Given the description of an element on the screen output the (x, y) to click on. 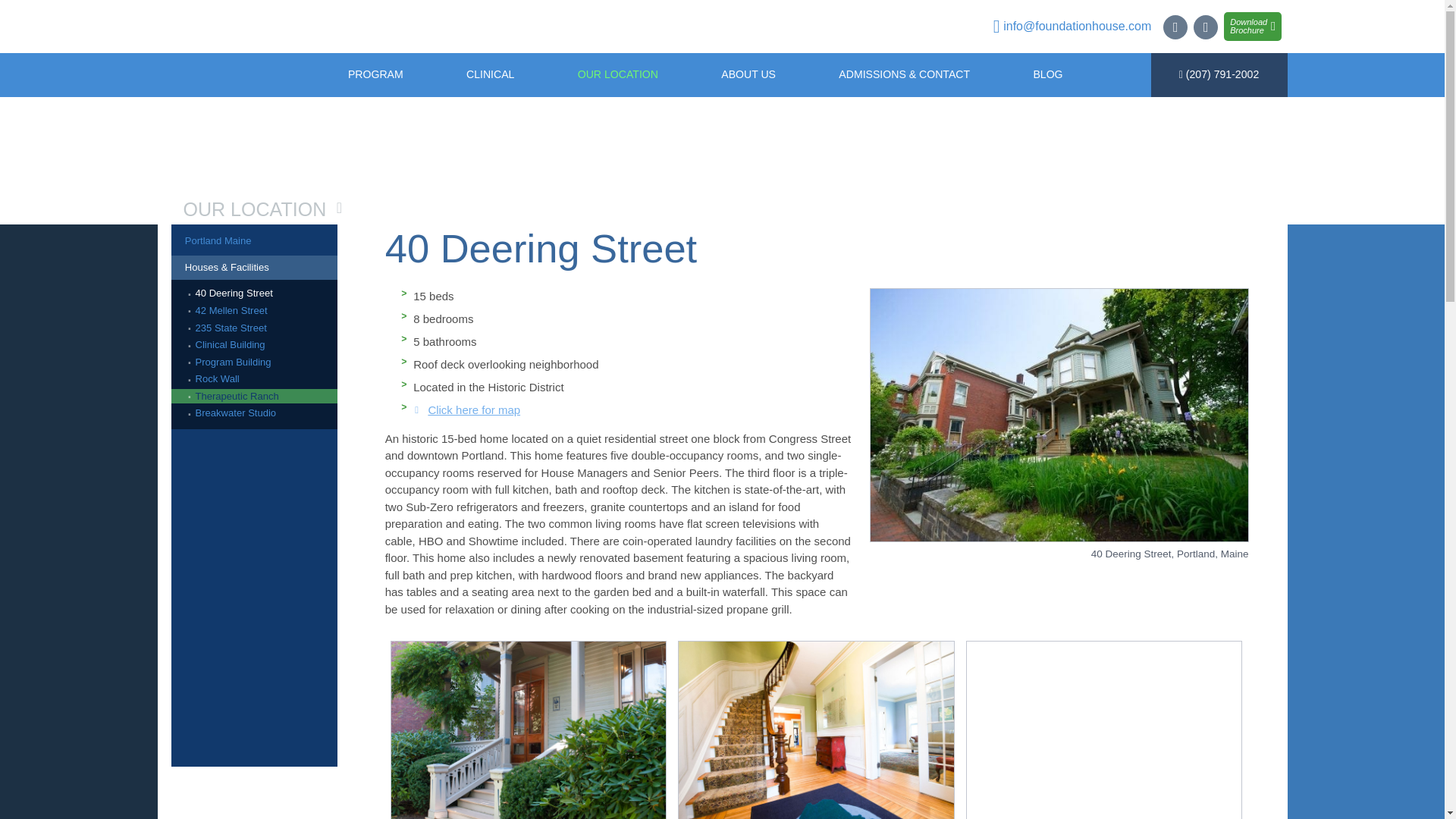
Download the Foundation House Brochure. (1252, 26)
PROGRAM (375, 75)
Foundation House (722, 23)
Email Foundation House (1072, 26)
OUR LOCATION (617, 75)
CLINICAL (489, 75)
Foundation House (229, 73)
ABOUT US (748, 75)
